Given the description of an element on the screen output the (x, y) to click on. 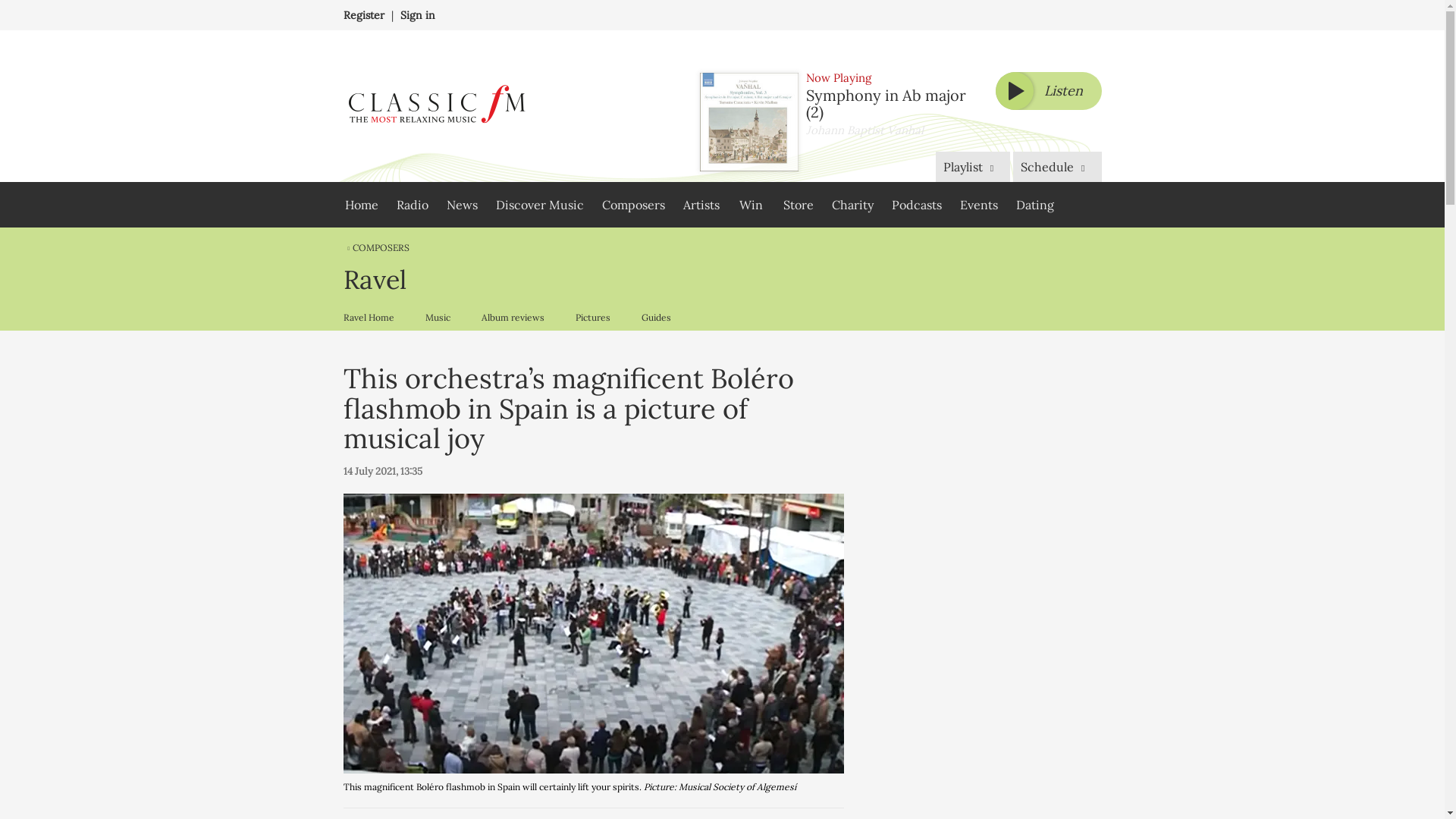
Events (978, 204)
Composers (633, 204)
Discover Music (539, 204)
Dating (1034, 204)
Register (363, 15)
Home (360, 204)
Radio (411, 204)
Music (437, 317)
Win (750, 204)
Store (797, 204)
COMPOSERS (375, 247)
Sign in (417, 15)
Classic FM (435, 106)
Album reviews (512, 317)
Guides (654, 317)
